Given the description of an element on the screen output the (x, y) to click on. 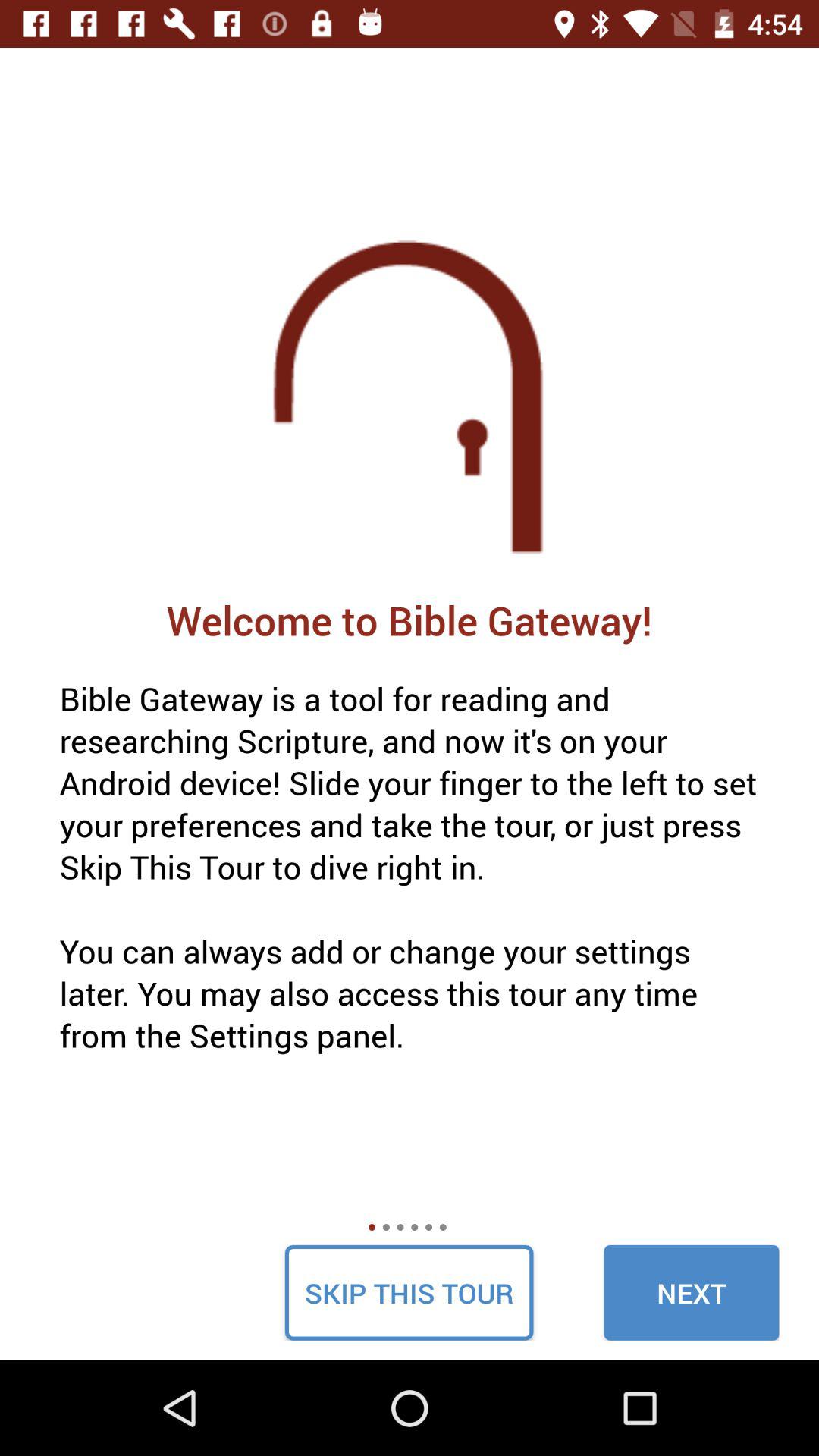
jump until skip this tour item (408, 1292)
